Given the description of an element on the screen output the (x, y) to click on. 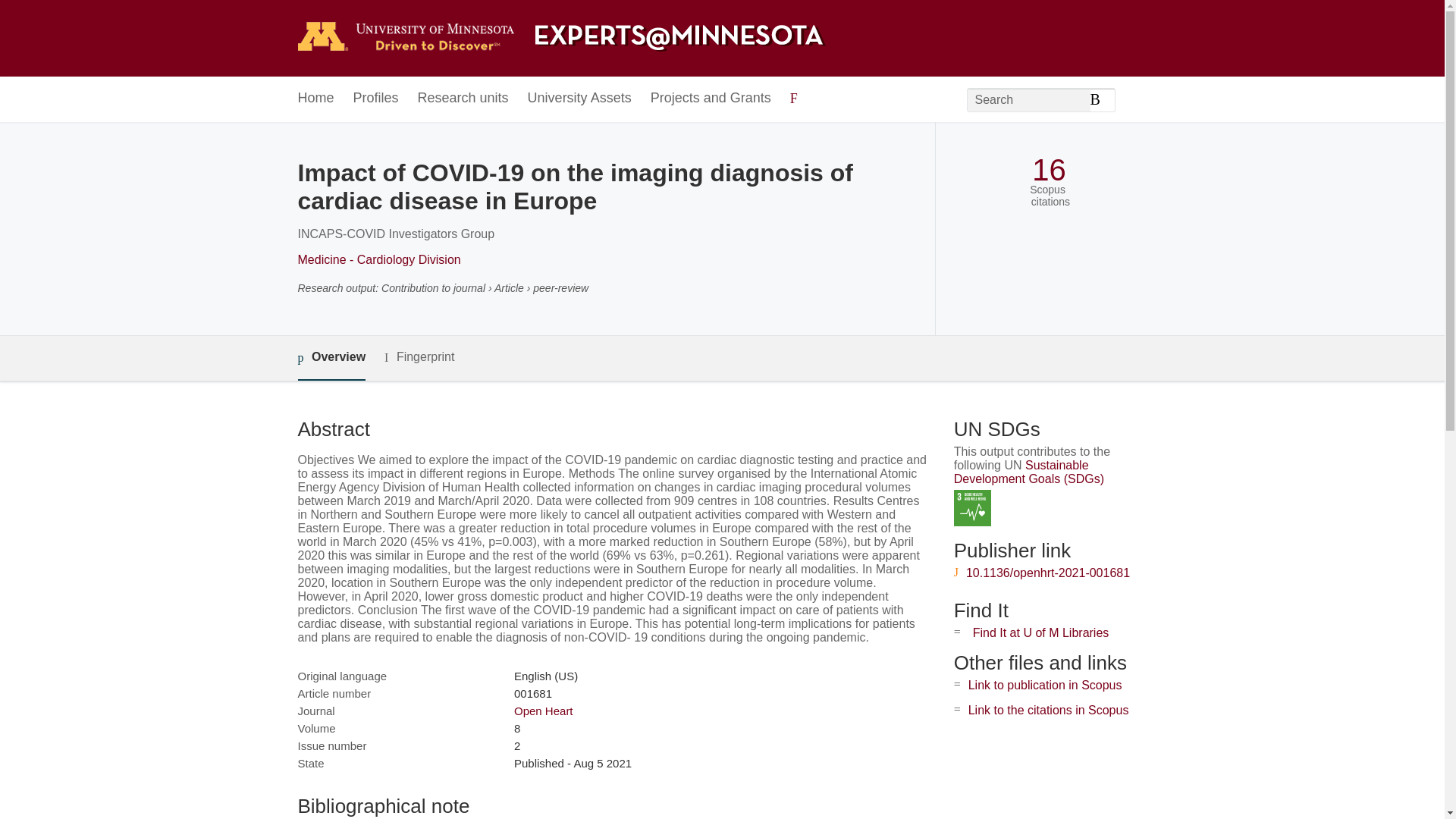
University Assets (579, 98)
Medicine - Cardiology Division (378, 259)
Overview (331, 357)
Open Heart (543, 710)
Link to publication in Scopus (1045, 684)
Projects and Grants (710, 98)
16 (1048, 170)
SDG 3 - Good Health and Well-being (972, 508)
Research units (462, 98)
Fingerprint (419, 357)
Link to the citations in Scopus (1048, 709)
Find It at U of M Libraries (1040, 632)
Profiles (375, 98)
